Given the description of an element on the screen output the (x, y) to click on. 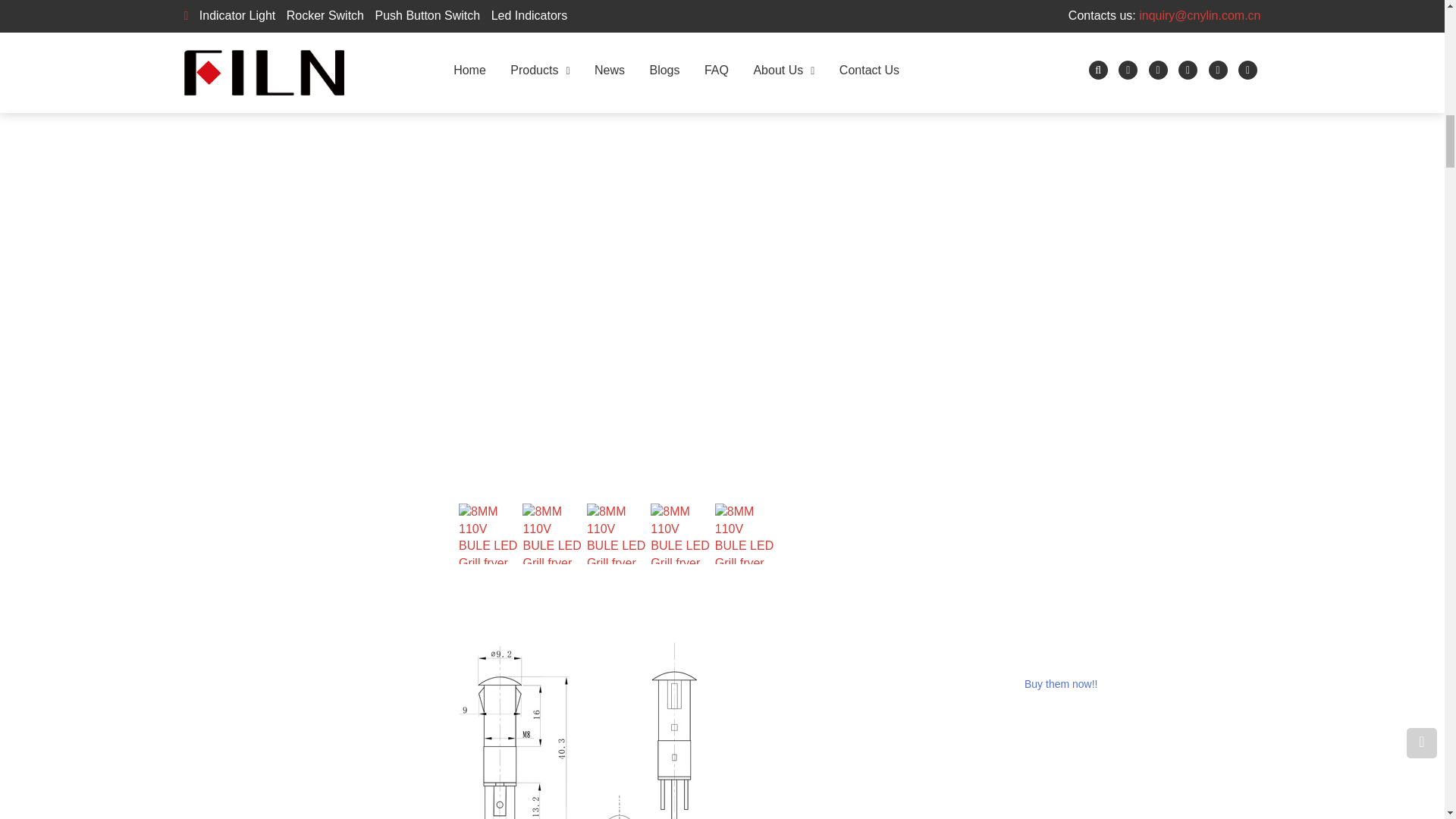
8MM 110V BULE LED Grill fryer UL Indicator Light Price (579, 729)
indicator light price (653, 49)
